Given the description of an element on the screen output the (x, y) to click on. 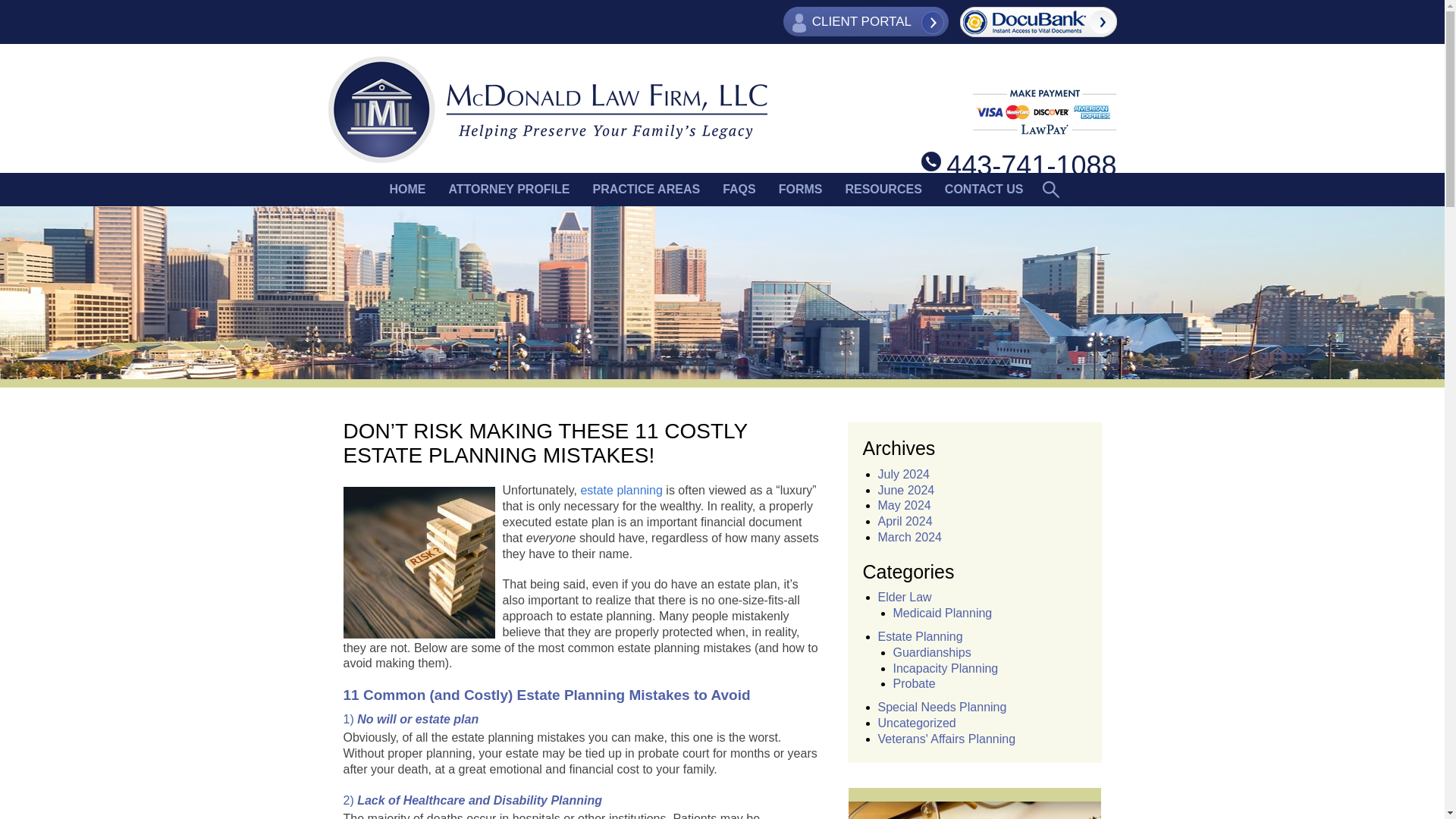
ATTORNEY PROFILE (508, 189)
FAQS (739, 189)
HOME (406, 189)
443-741-1088 (1018, 165)
RESOURCES (882, 189)
CONTACT US (984, 189)
Don't risk making these estate planning mistakes! (418, 562)
PRACTICE AREAS (645, 189)
CLIENT PORTAL (866, 21)
FORMS (800, 189)
